Given the description of an element on the screen output the (x, y) to click on. 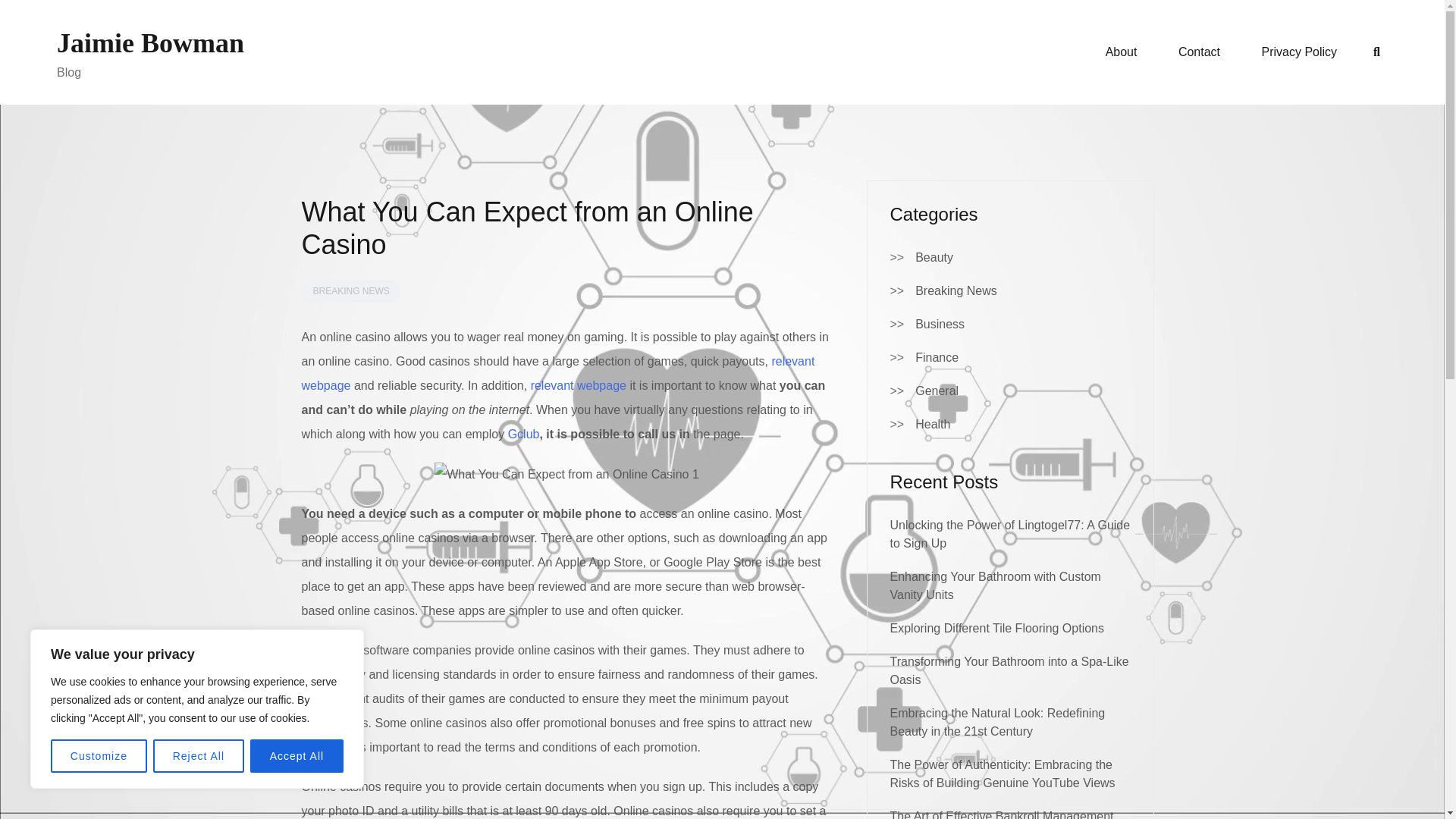
Privacy Policy (1300, 52)
Jaimie Bowman (150, 42)
Accept All (296, 756)
Enhancing Your Bathroom with Custom Vanity Units (994, 585)
Exploring Different Tile Flooring Options (997, 627)
Breaking News (956, 290)
Health (932, 424)
Gclub (524, 433)
Business (939, 324)
General (936, 391)
